Given the description of an element on the screen output the (x, y) to click on. 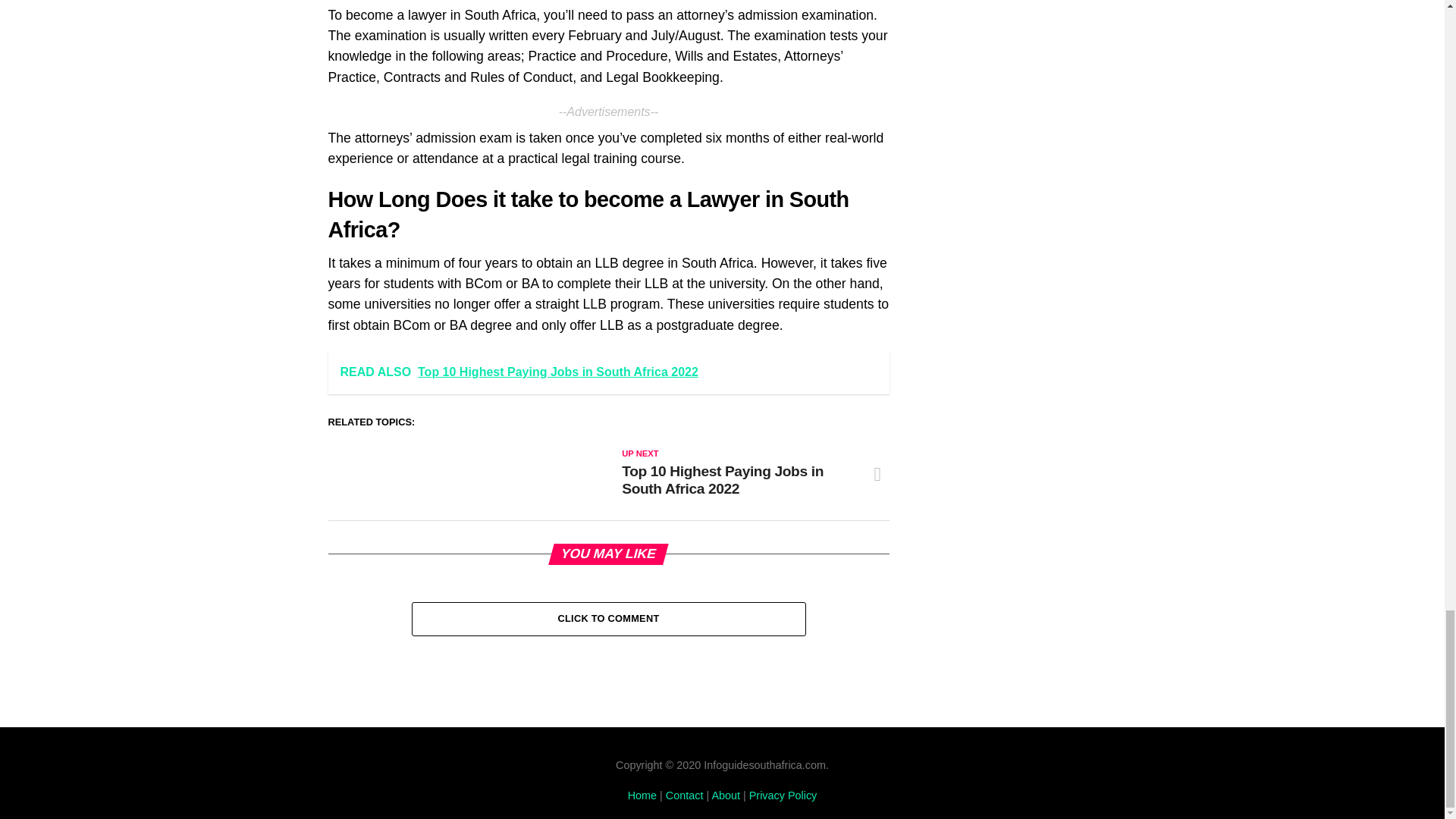
READ ALSO  Top 10 Highest Paying Jobs in South Africa 2022 (607, 372)
